Given the description of an element on the screen output the (x, y) to click on. 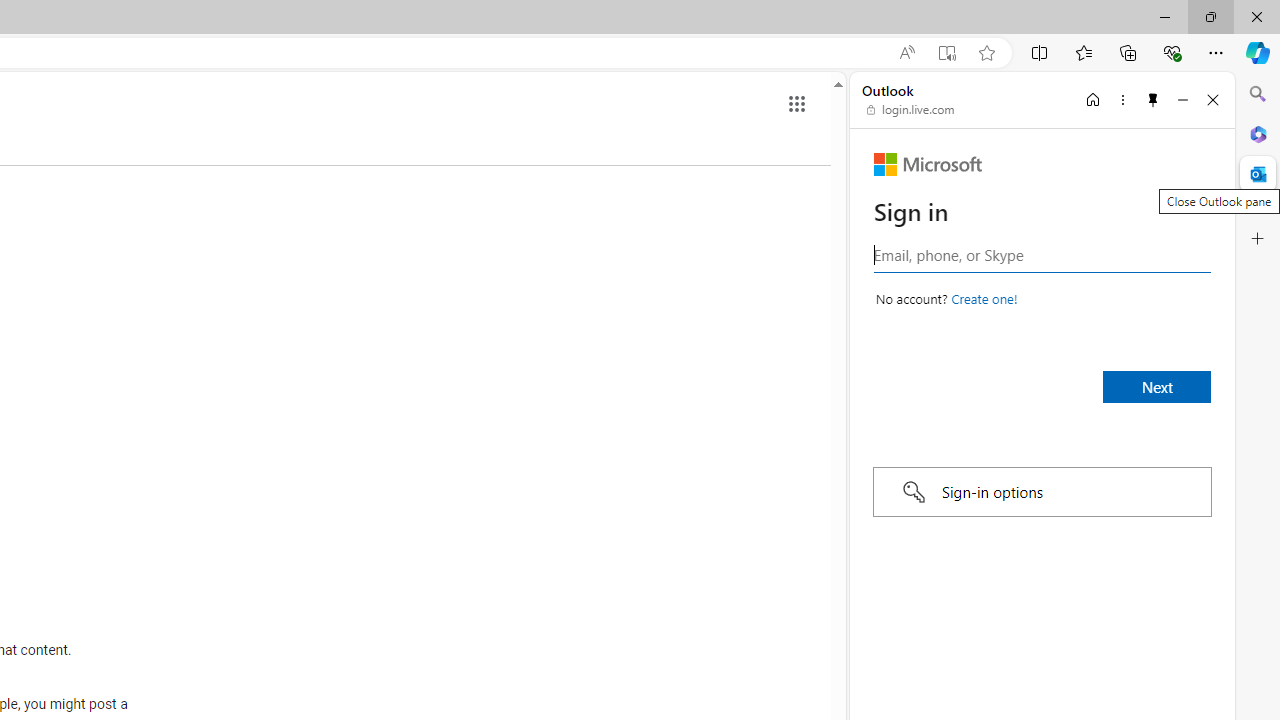
Sign-in options (1042, 492)
Create a Microsoft account (984, 298)
login.live.com (911, 110)
Next (1156, 386)
Close Search pane (1258, 94)
